Given the description of an element on the screen output the (x, y) to click on. 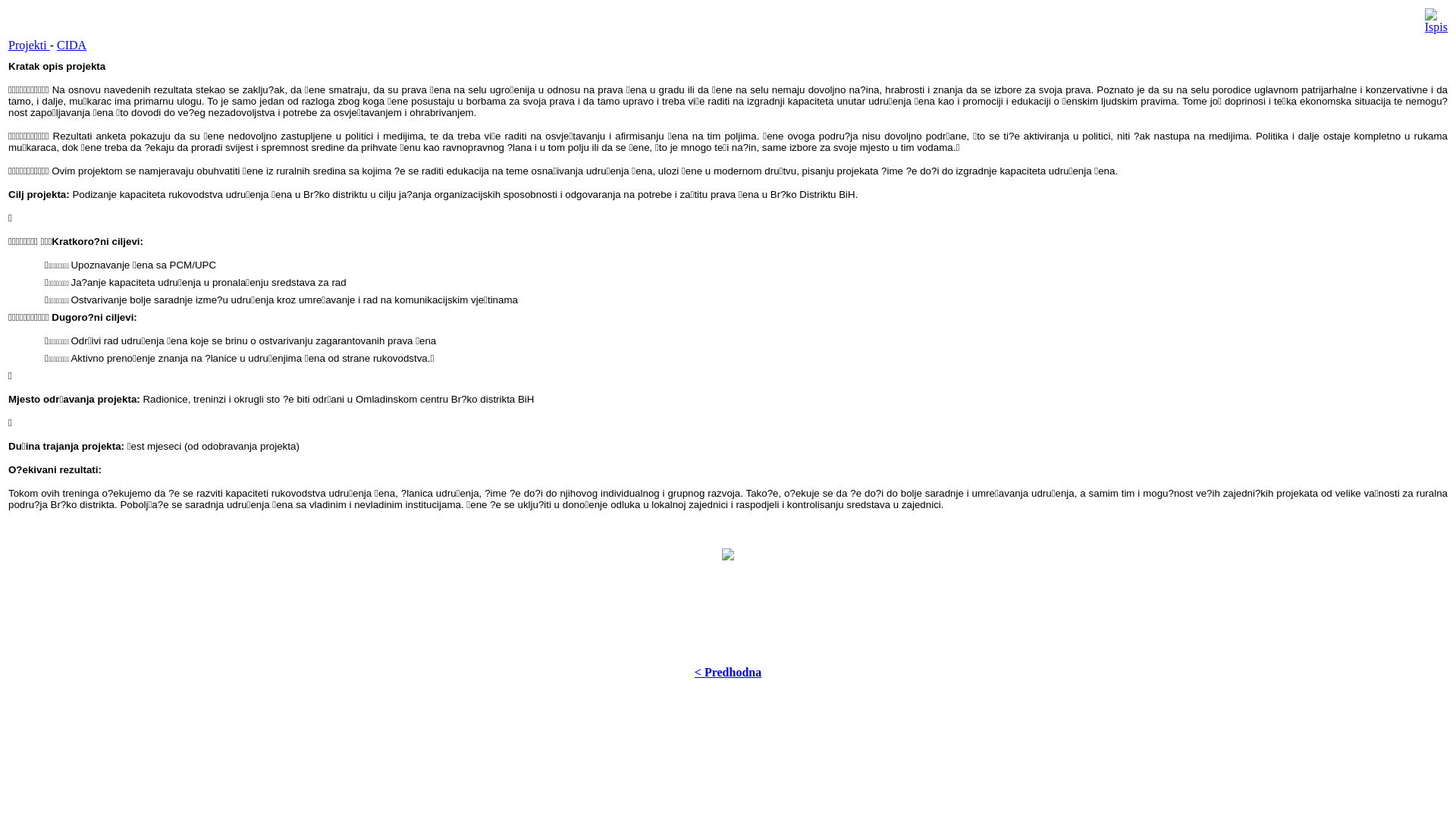
CIDA Element type: text (71, 44)
Projekti Element type: text (29, 44)
< Predhodna Element type: text (727, 671)
